Given the description of an element on the screen output the (x, y) to click on. 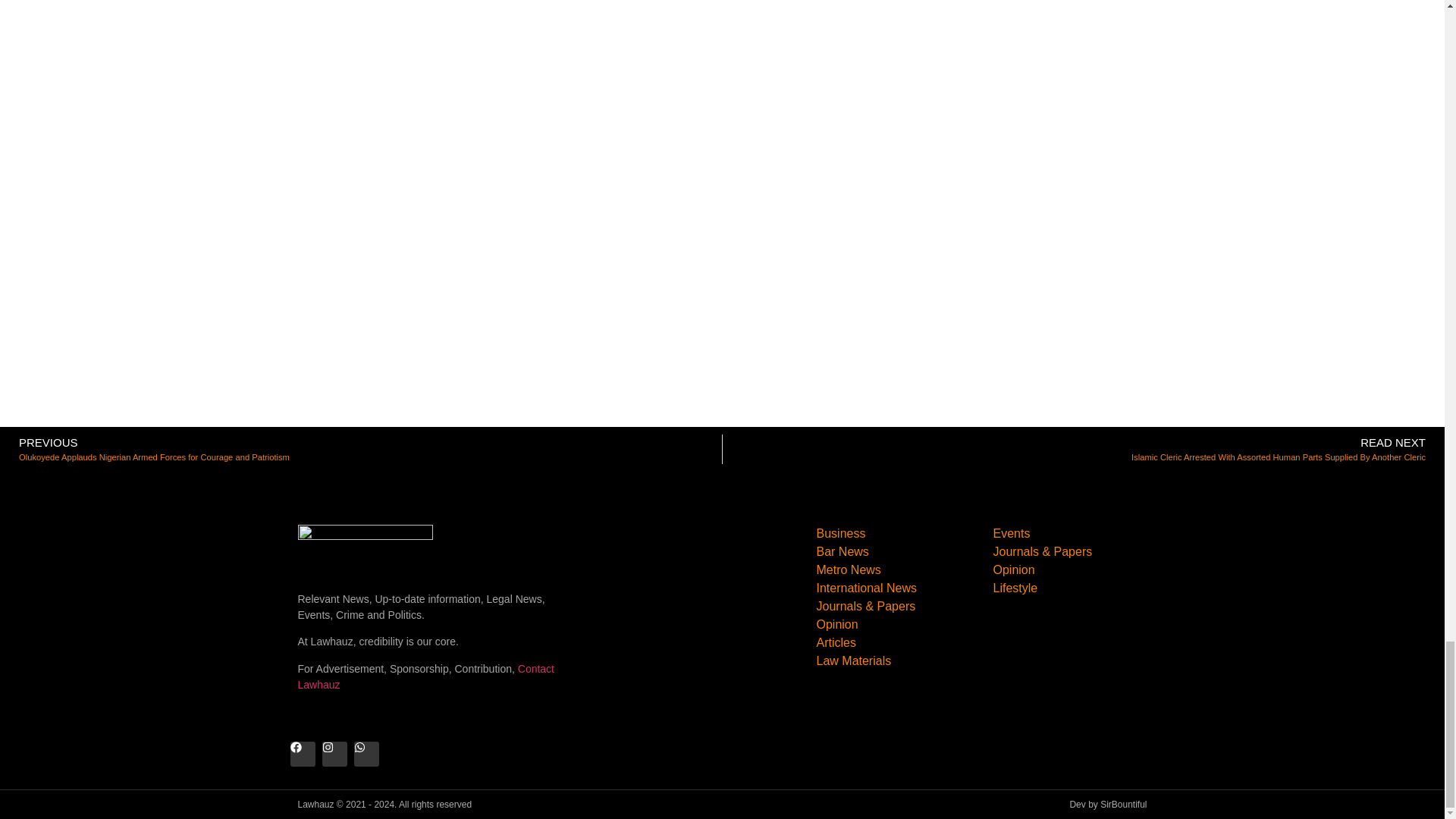
Business (894, 533)
Contact Lawhauz (425, 676)
